Given the description of an element on the screen output the (x, y) to click on. 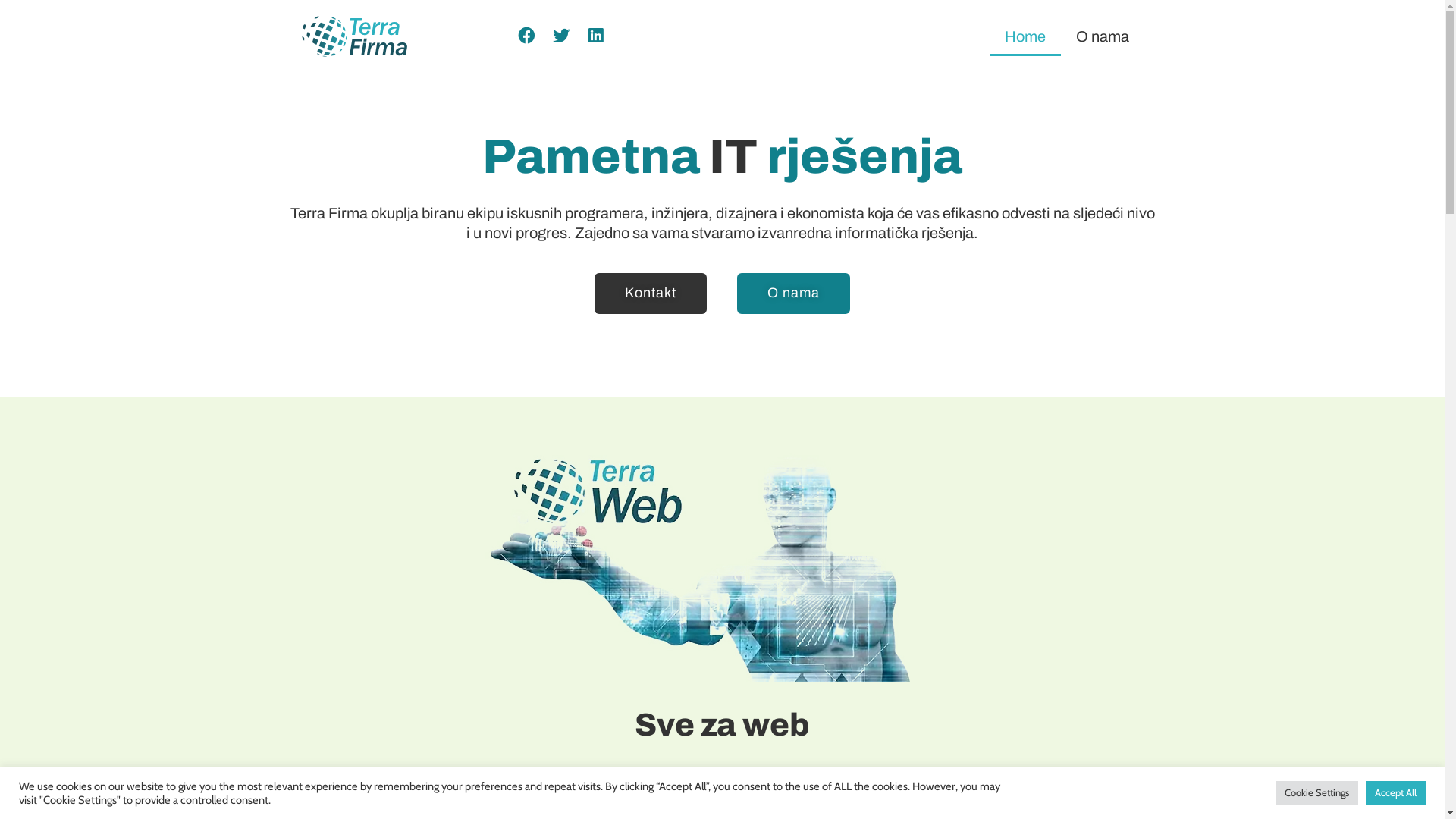
Share on linkedin Element type: text (595, 35)
O nama Element type: text (1102, 36)
O nama Element type: text (793, 293)
Home Element type: text (1024, 36)
Accept All Element type: text (1395, 792)
Kontakt Element type: text (650, 293)
Cookie Settings Element type: text (1316, 792)
Share on twitter Element type: text (560, 35)
Share on facebook Element type: text (525, 35)
